Given the description of an element on the screen output the (x, y) to click on. 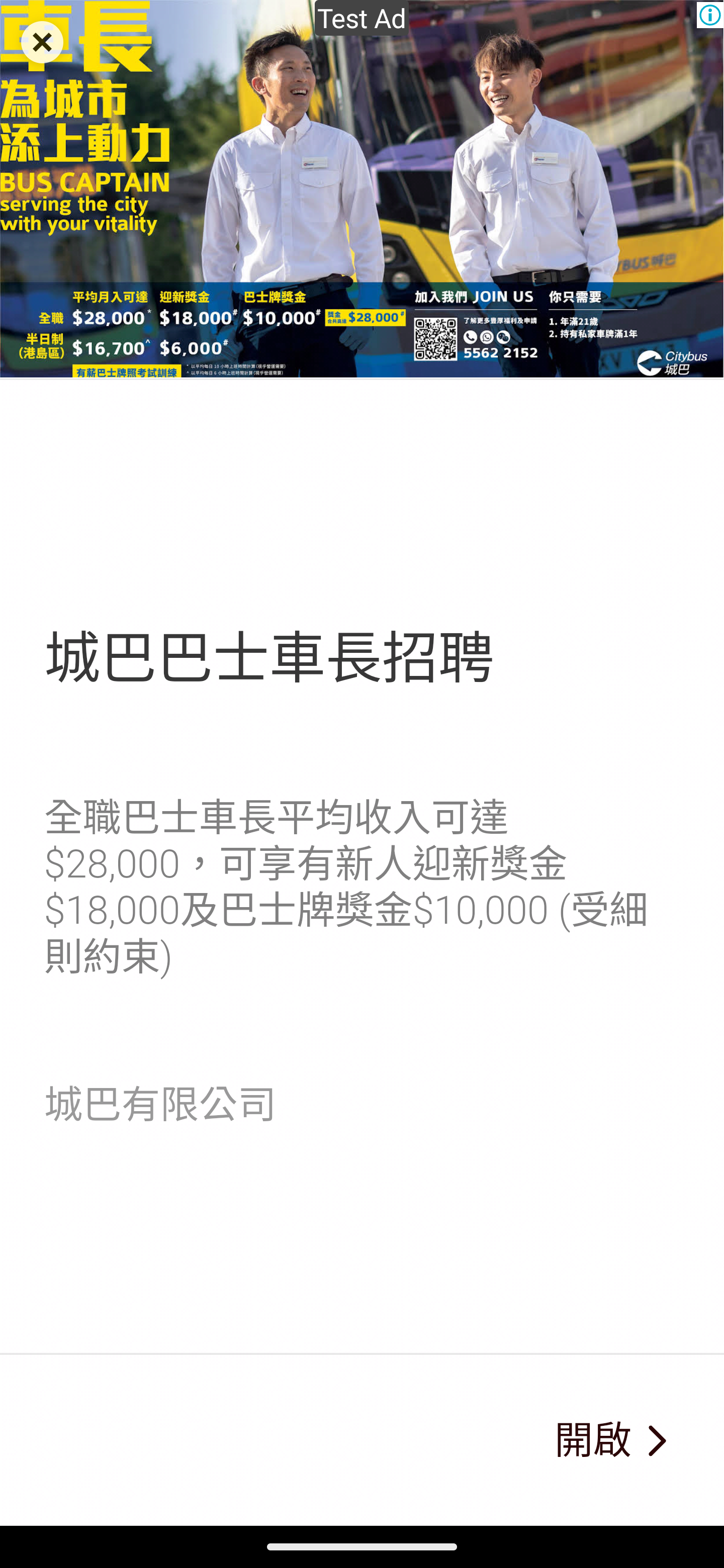
bc-recruitment (362, 189)
城巴巴士車長招聘 (268, 658)
城巴有限公司 (159, 1104)
bc-recruitment (655, 1440)
開啟 (592, 1440)
